Given the description of an element on the screen output the (x, y) to click on. 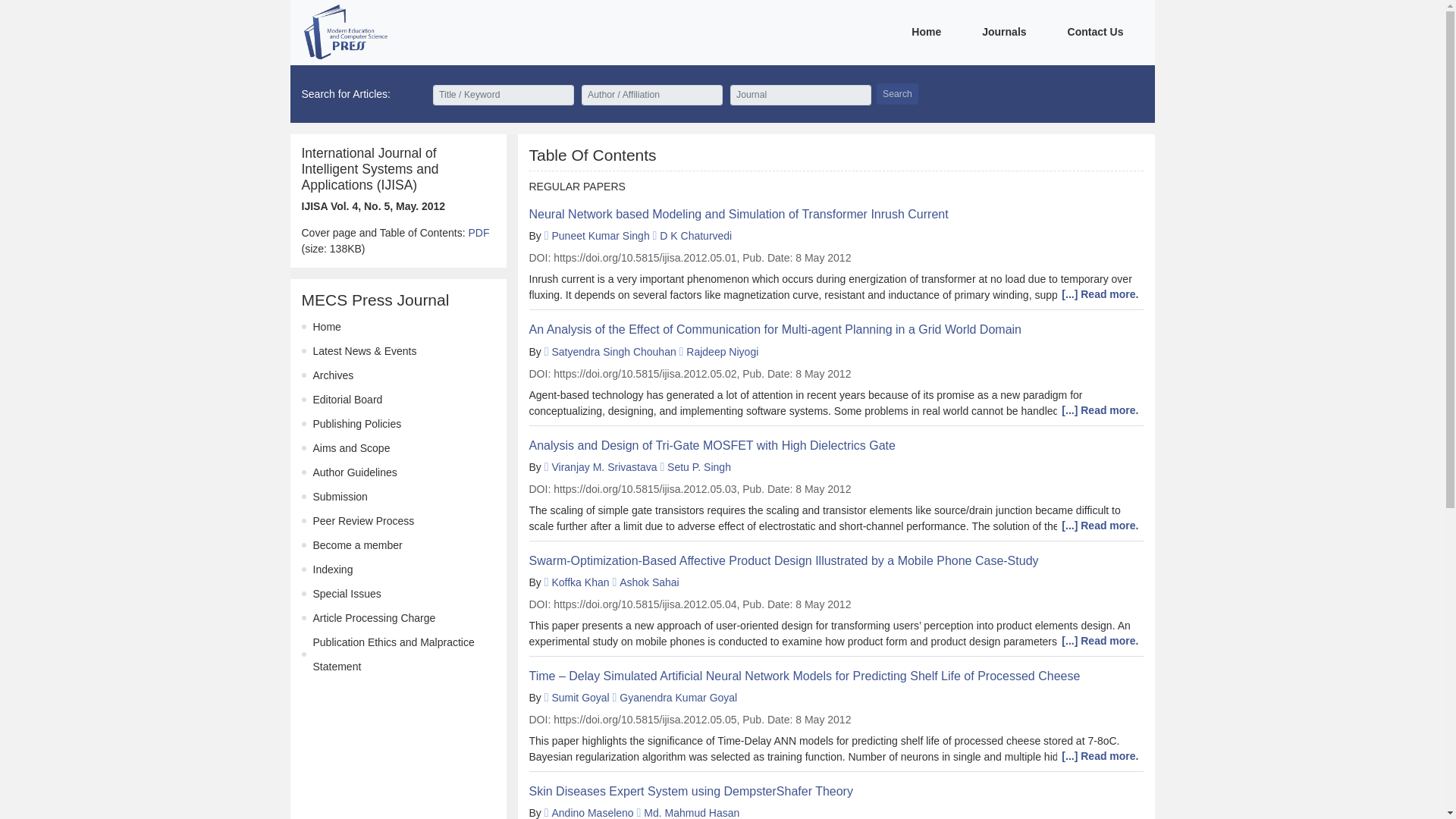
Indexing (332, 569)
Article Processing Charge (374, 617)
Satyendra Singh Chouhan (613, 351)
Peer Review Process (363, 521)
Md. Mahmud Hasan (691, 812)
Publishing Policies (357, 423)
Editorial Board (347, 399)
Gyanendra Kumar Goyal (678, 697)
Koffka Khan (579, 582)
Sumit Goyal (579, 697)
Archives (333, 375)
Andino Maseleno (592, 812)
Skin Diseases Expert System using DempsterShafer Theory (835, 790)
Search (897, 93)
